Given the description of an element on the screen output the (x, y) to click on. 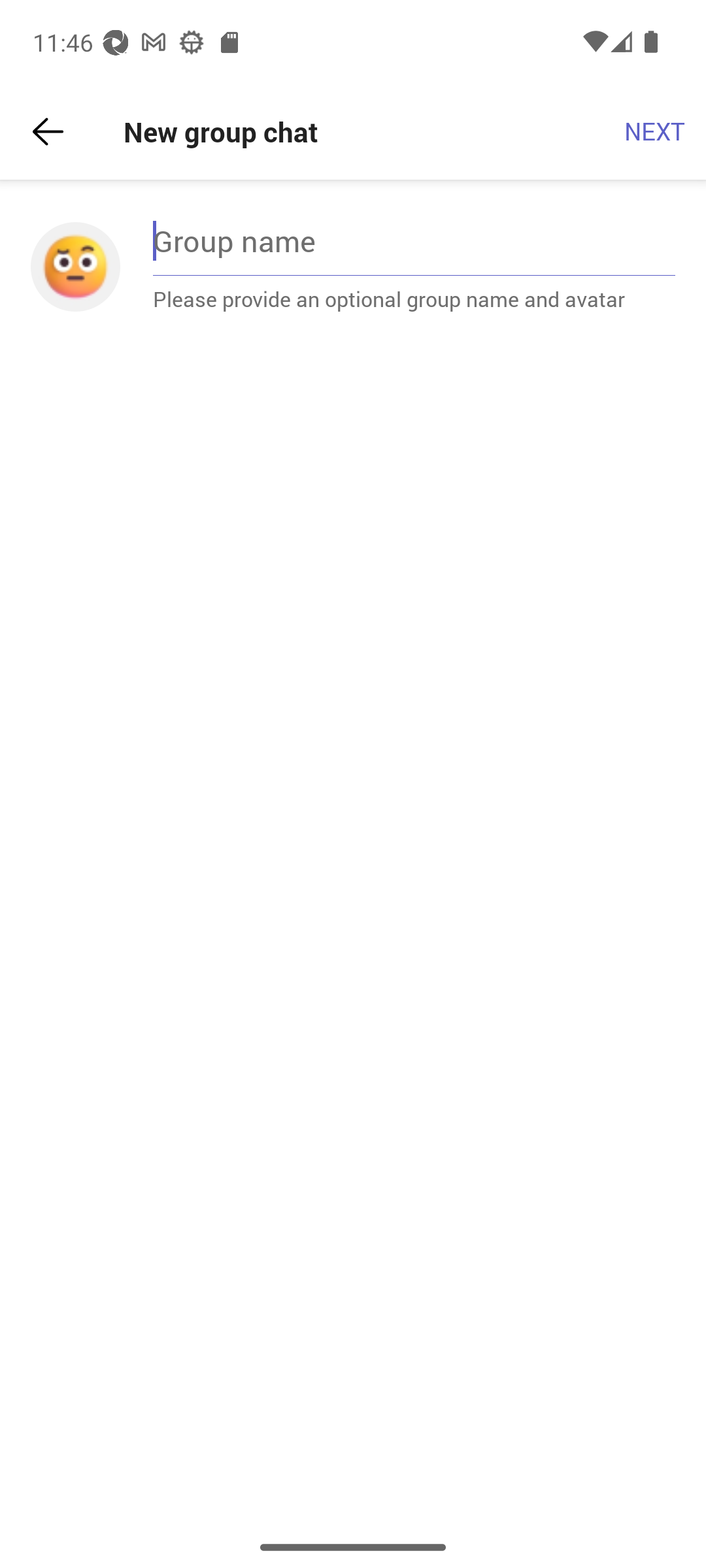
Back (48, 131)
NEXT (654, 131)
Group name (413, 240)
Edit Image (75, 267)
